Given the description of an element on the screen output the (x, y) to click on. 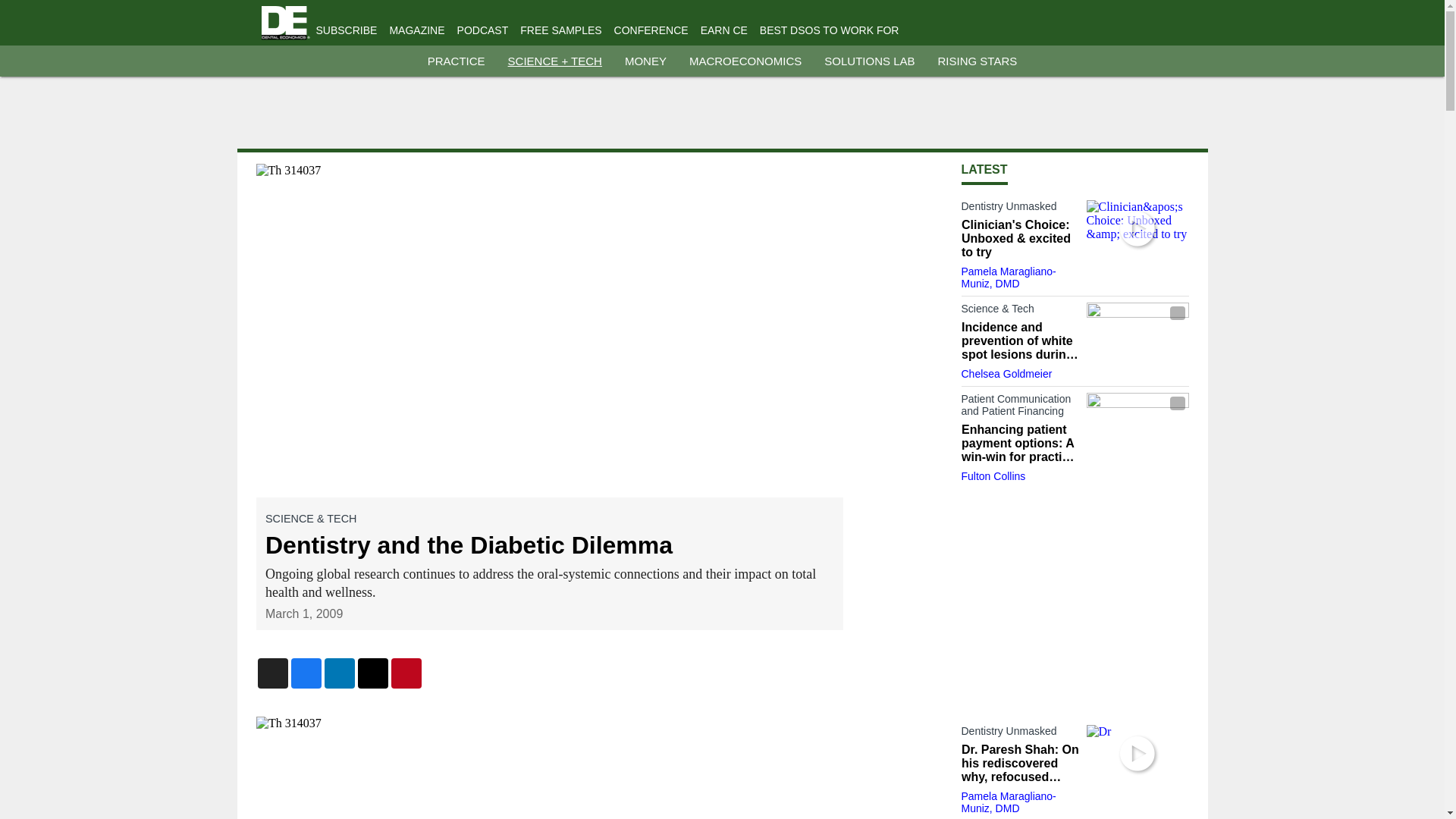
RISING STARS (976, 60)
Dentistry Unmasked (1019, 208)
MACROECONOMICS (745, 60)
SOLUTIONS LAB (869, 60)
PODCAST (482, 30)
Pamela Maragliano-Muniz, DMD (1008, 277)
Patient Communication and Patient Financing (1019, 408)
FREE SAMPLES (560, 30)
